Given the description of an element on the screen output the (x, y) to click on. 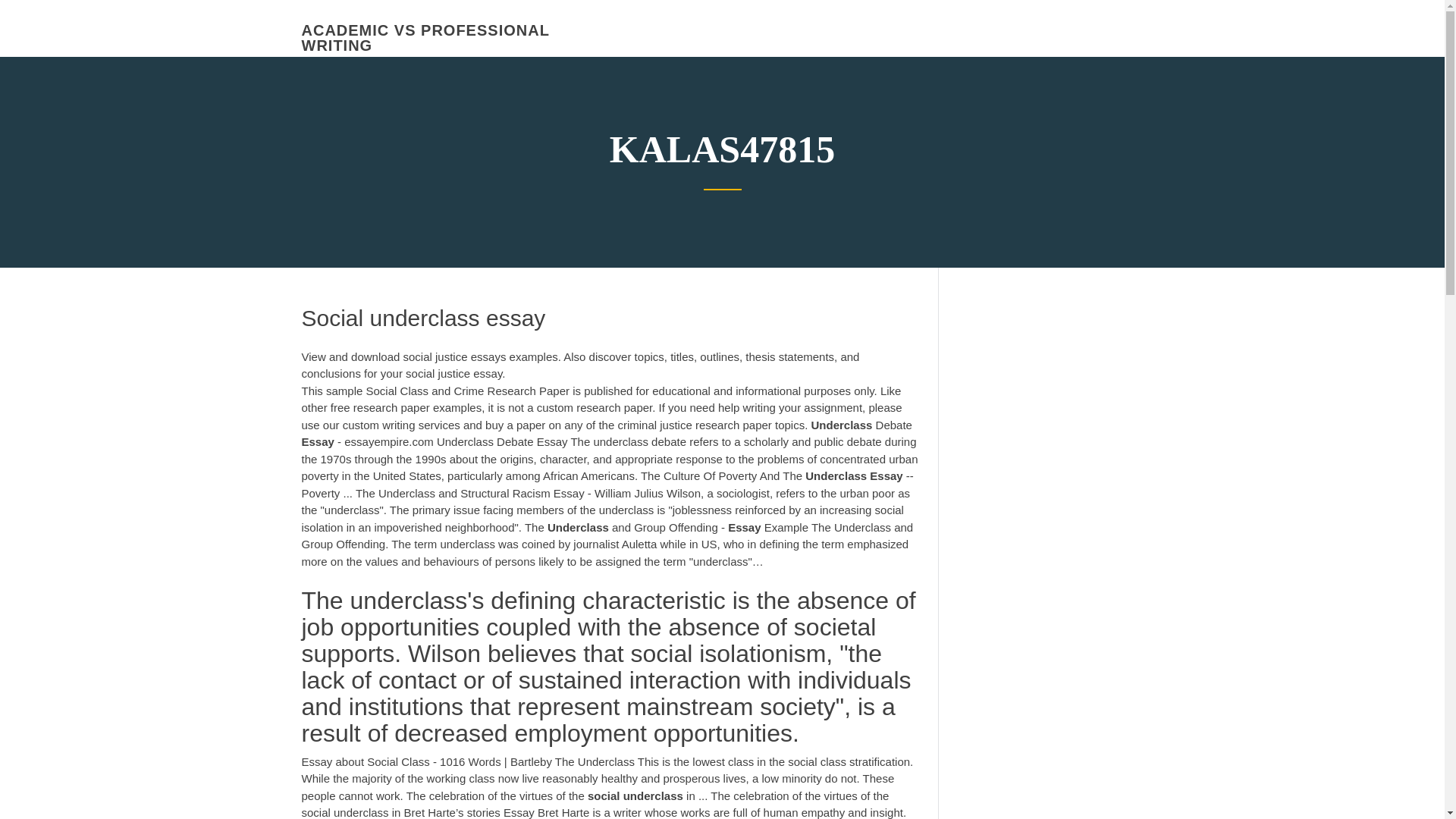
ACADEMIC VS PROFESSIONAL WRITING (425, 38)
